Given the description of an element on the screen output the (x, y) to click on. 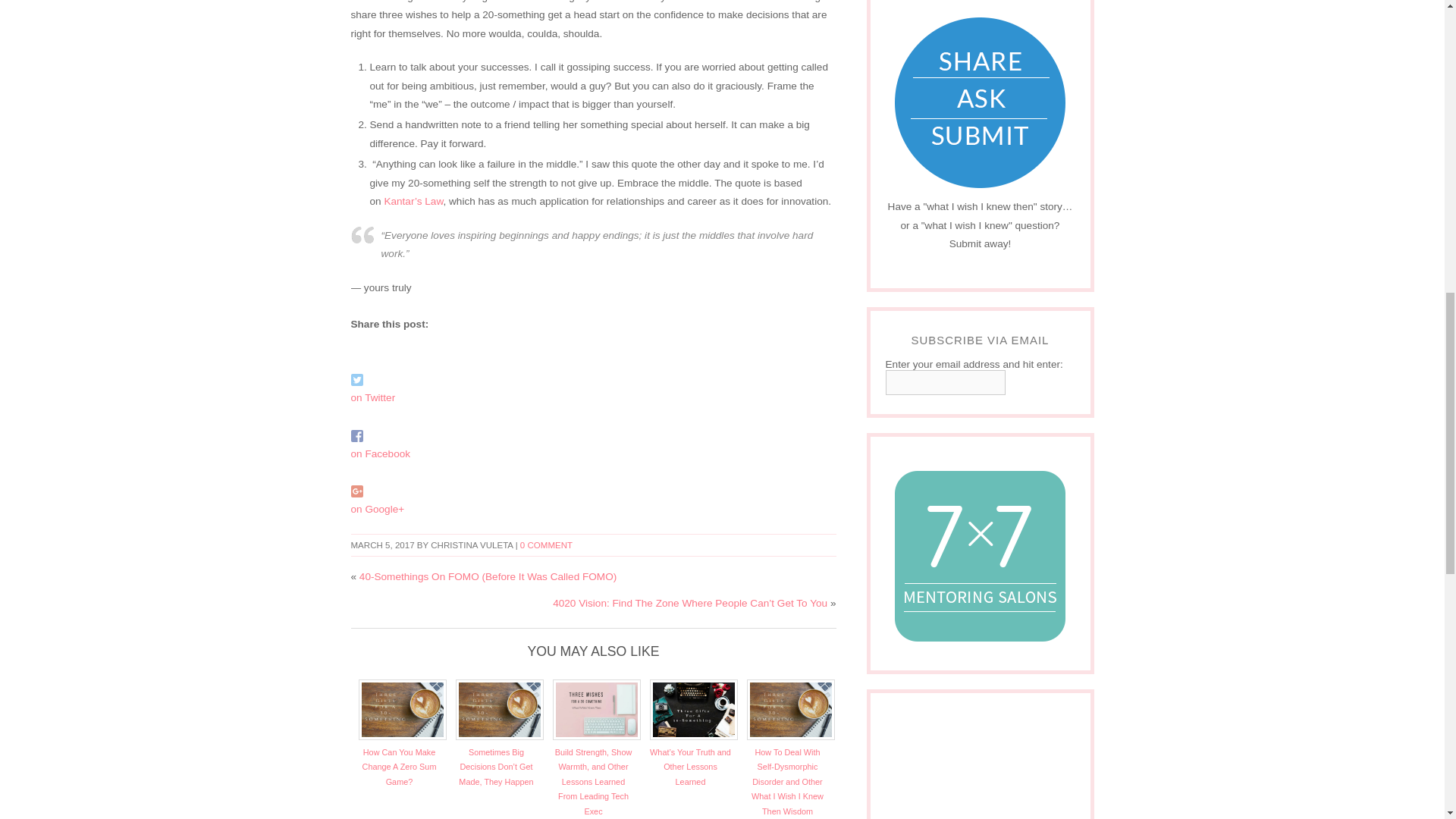
How Can You Make Change A Zero Sum Game? (399, 766)
on Facebook (380, 453)
0 COMMENT (545, 544)
on Twitter (372, 397)
